Given the description of an element on the screen output the (x, y) to click on. 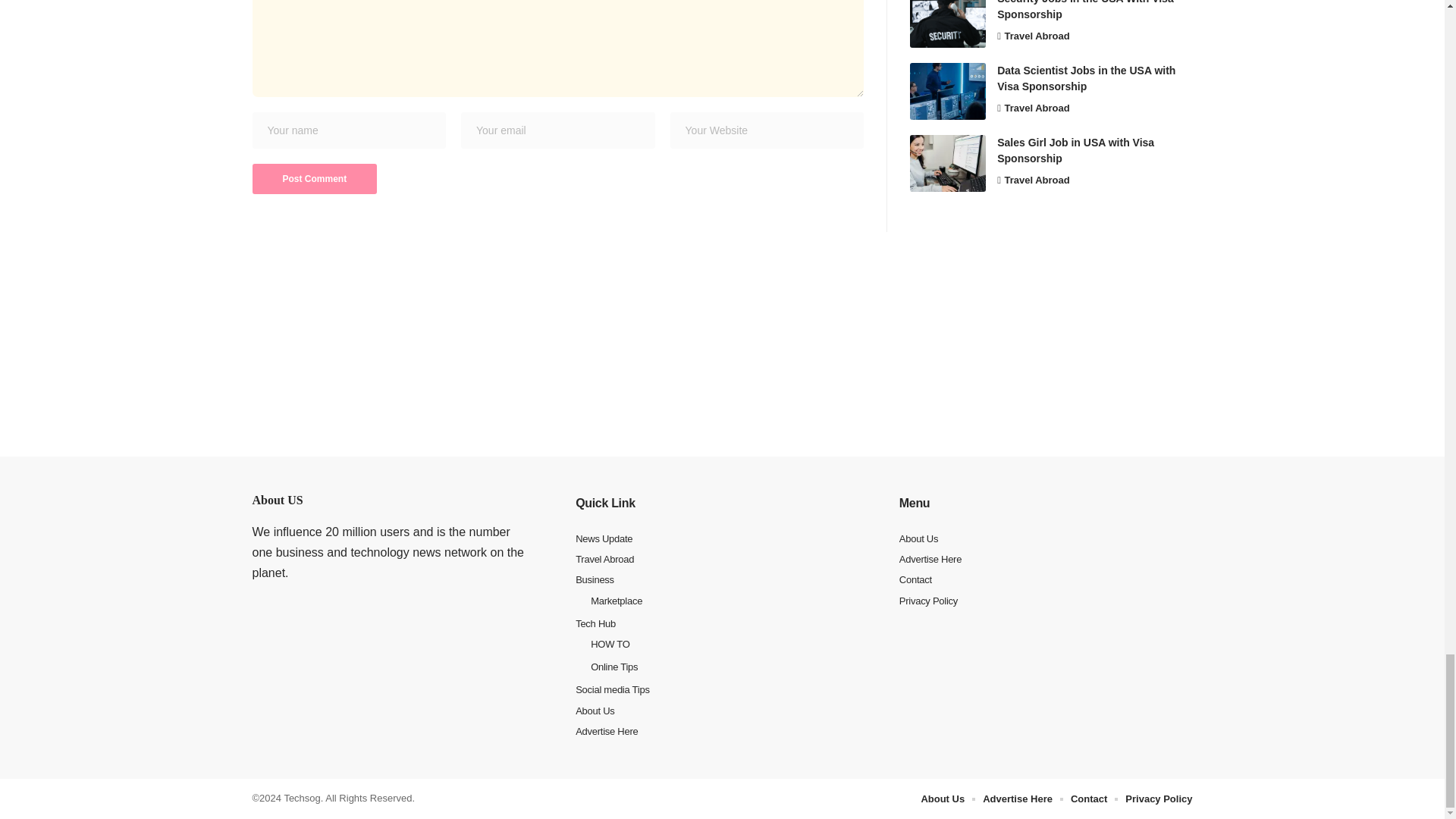
Post Comment (314, 178)
